Given the description of an element on the screen output the (x, y) to click on. 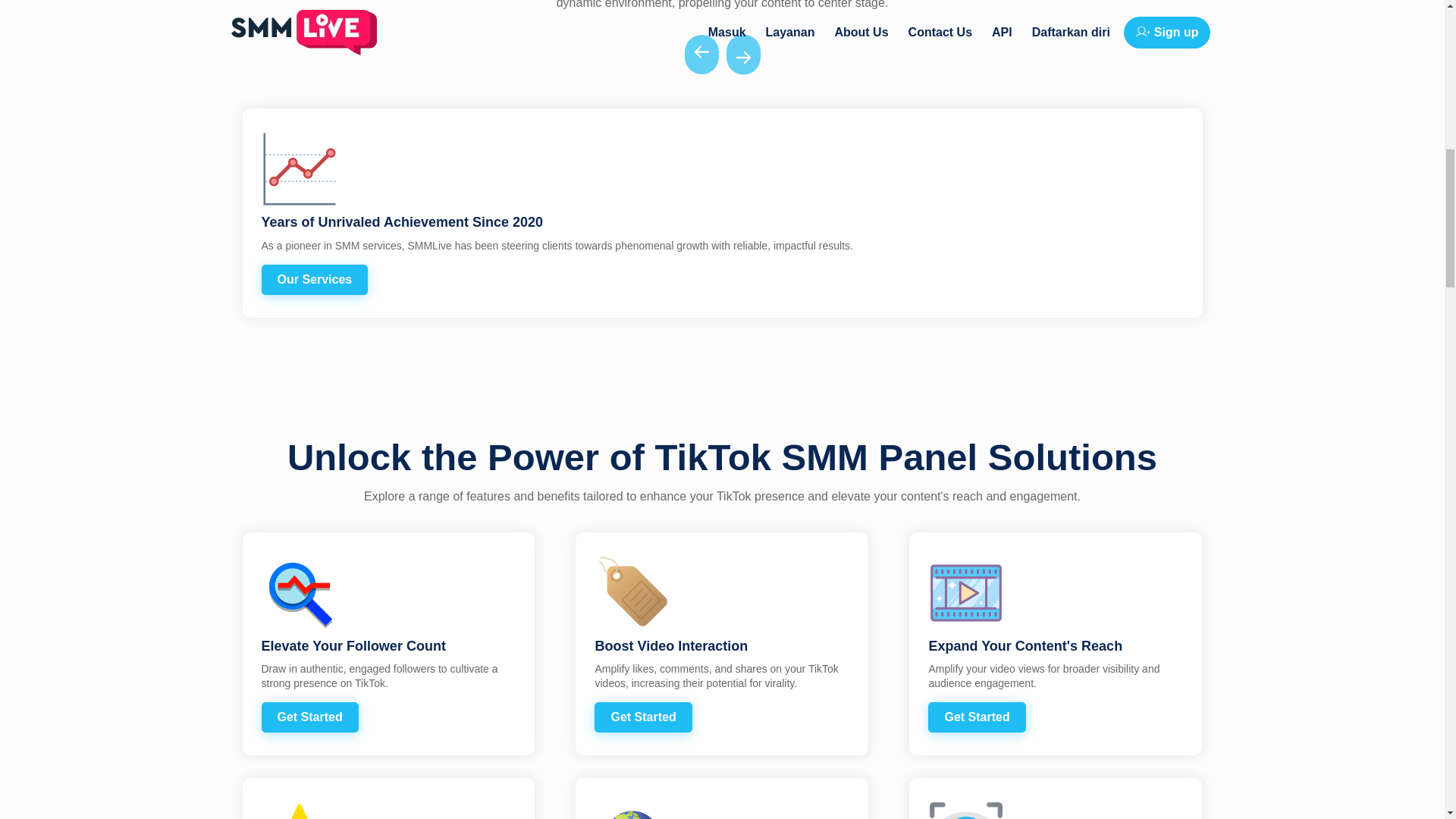
Our Services (314, 279)
Get Started (642, 716)
Get Started (309, 716)
Get Started (976, 716)
